Given the description of an element on the screen output the (x, y) to click on. 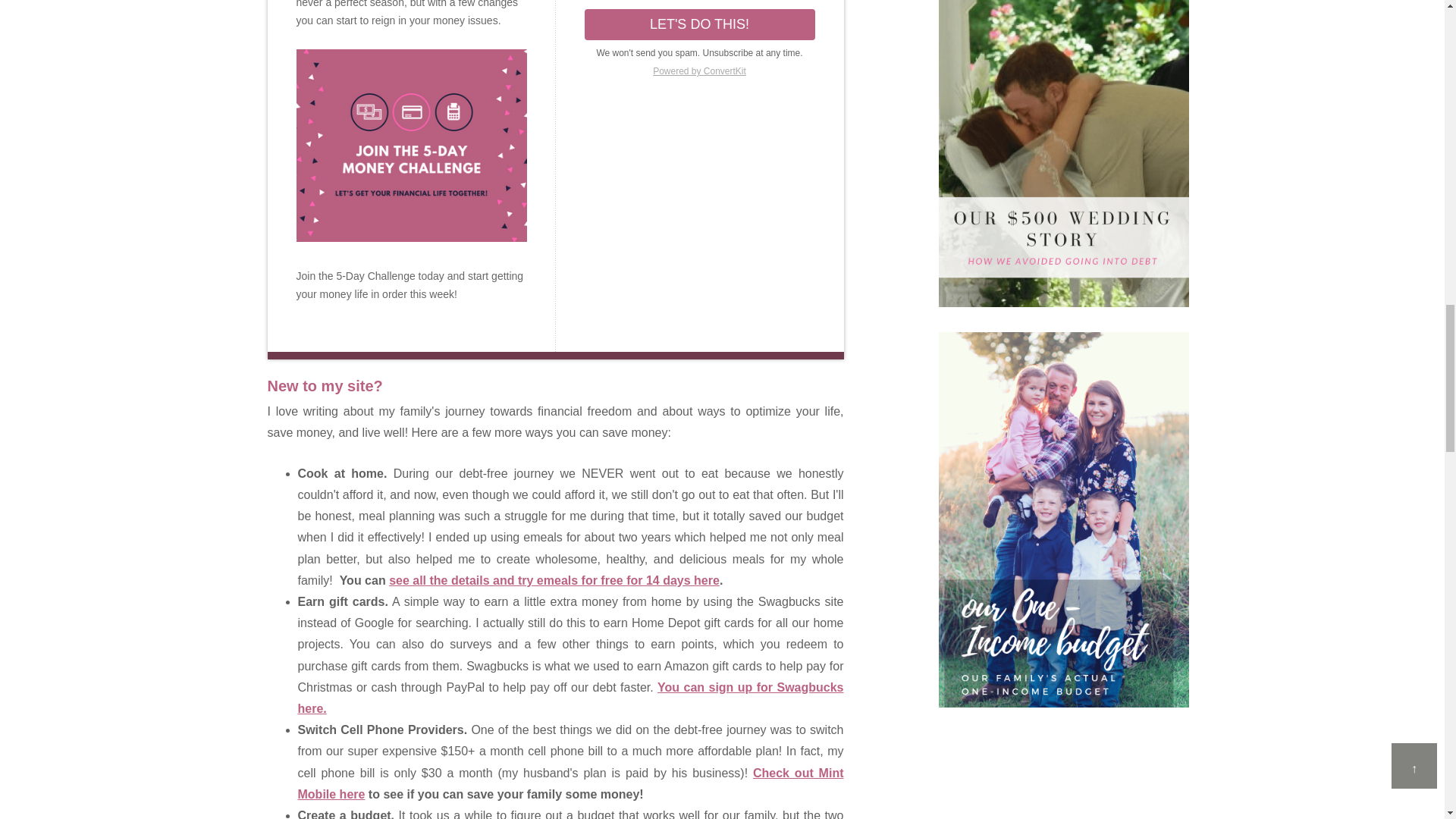
LET'S DO THIS! (698, 24)
Check out Mint Mobile here (570, 782)
Powered by ConvertKit (698, 71)
You can sign up for Swagbucks here. (570, 697)
see all the details and try emeals for free for 14 days here (553, 580)
